Given the description of an element on the screen output the (x, y) to click on. 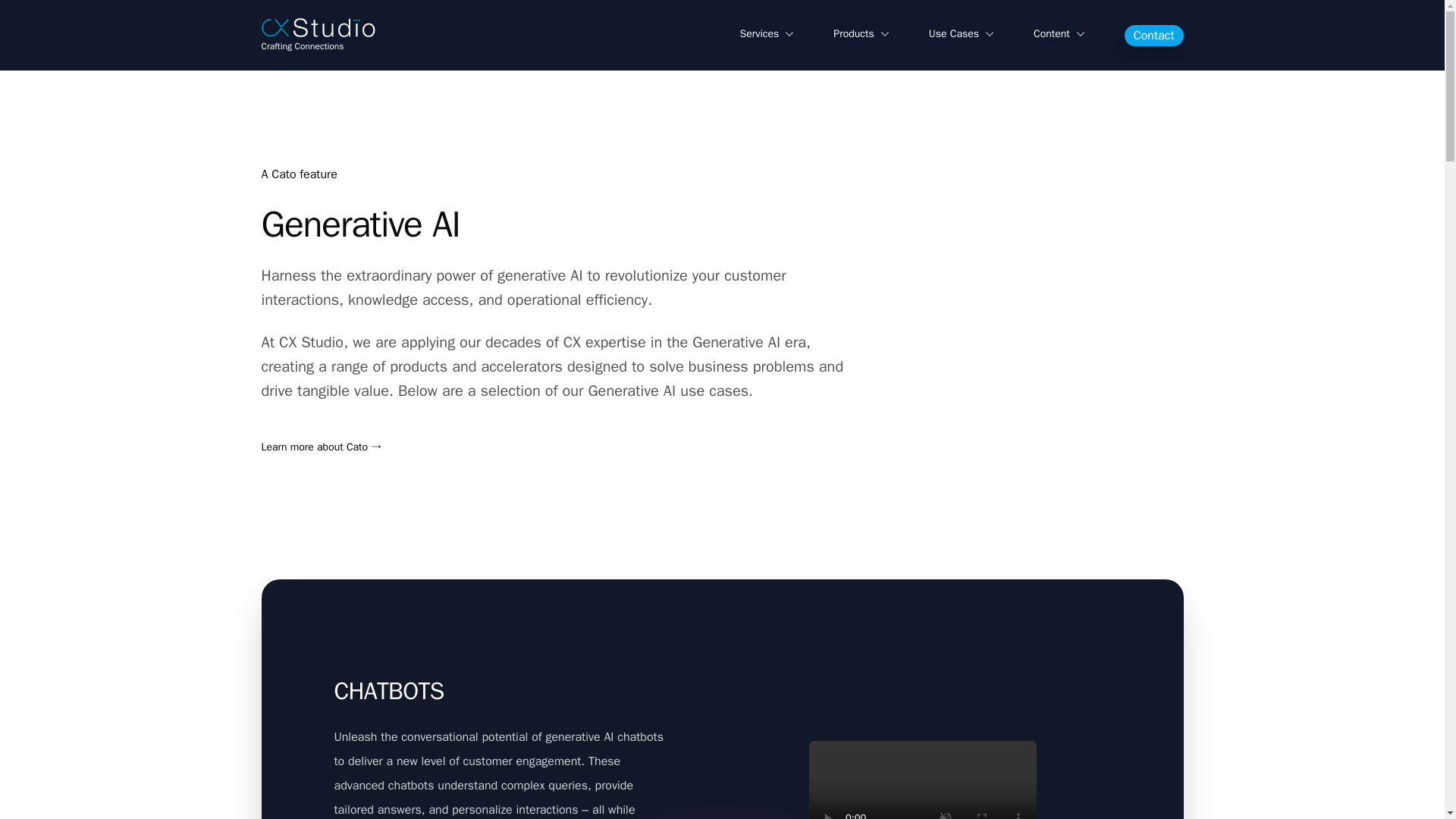
Services (768, 34)
Contact (1153, 35)
Use Cases (962, 34)
Products (861, 34)
Content (1060, 34)
Contact (1154, 35)
CX Studio (317, 27)
